Given the description of an element on the screen output the (x, y) to click on. 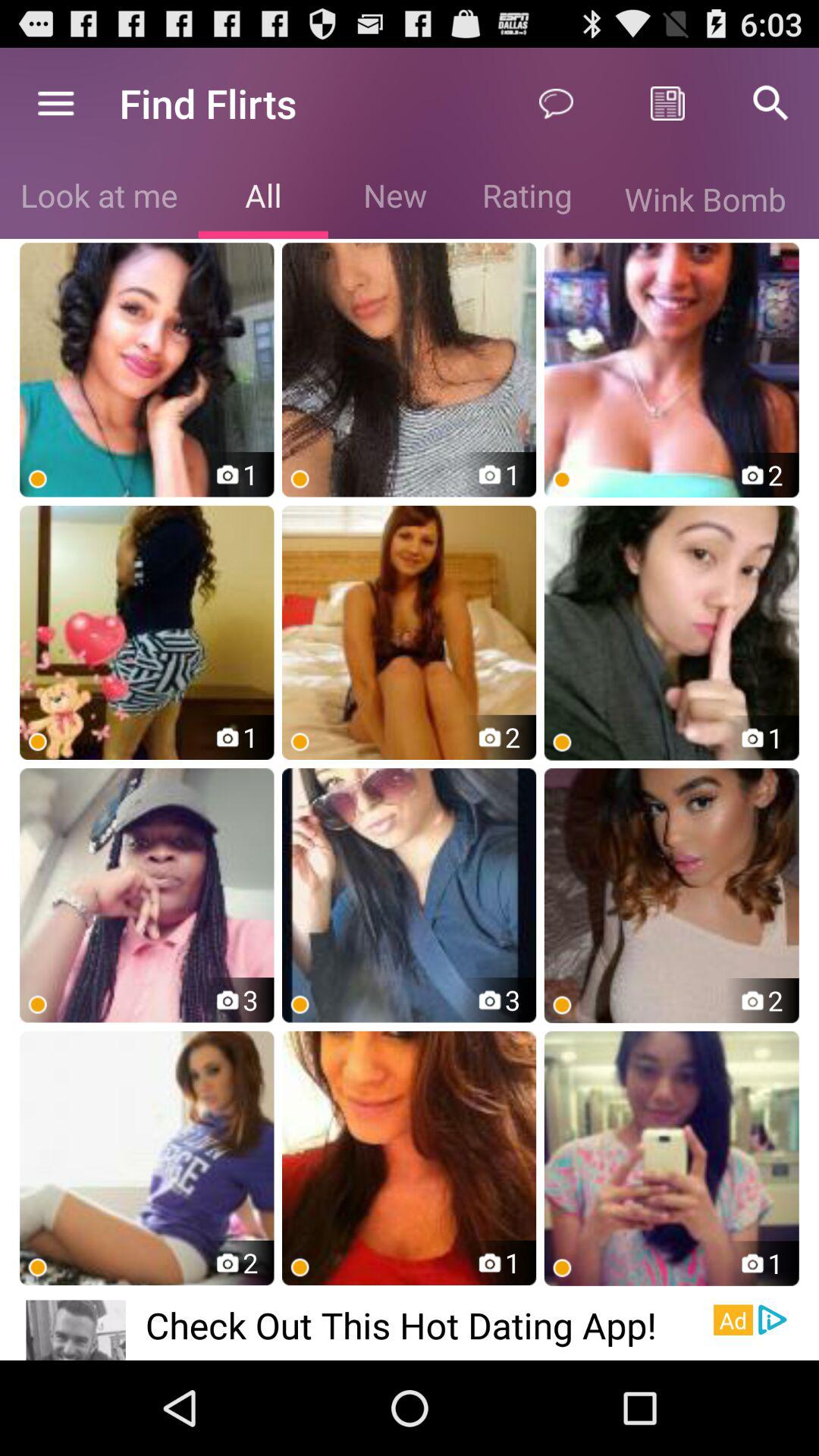
open the item below the look at me (146, 369)
